Given the description of an element on the screen output the (x, y) to click on. 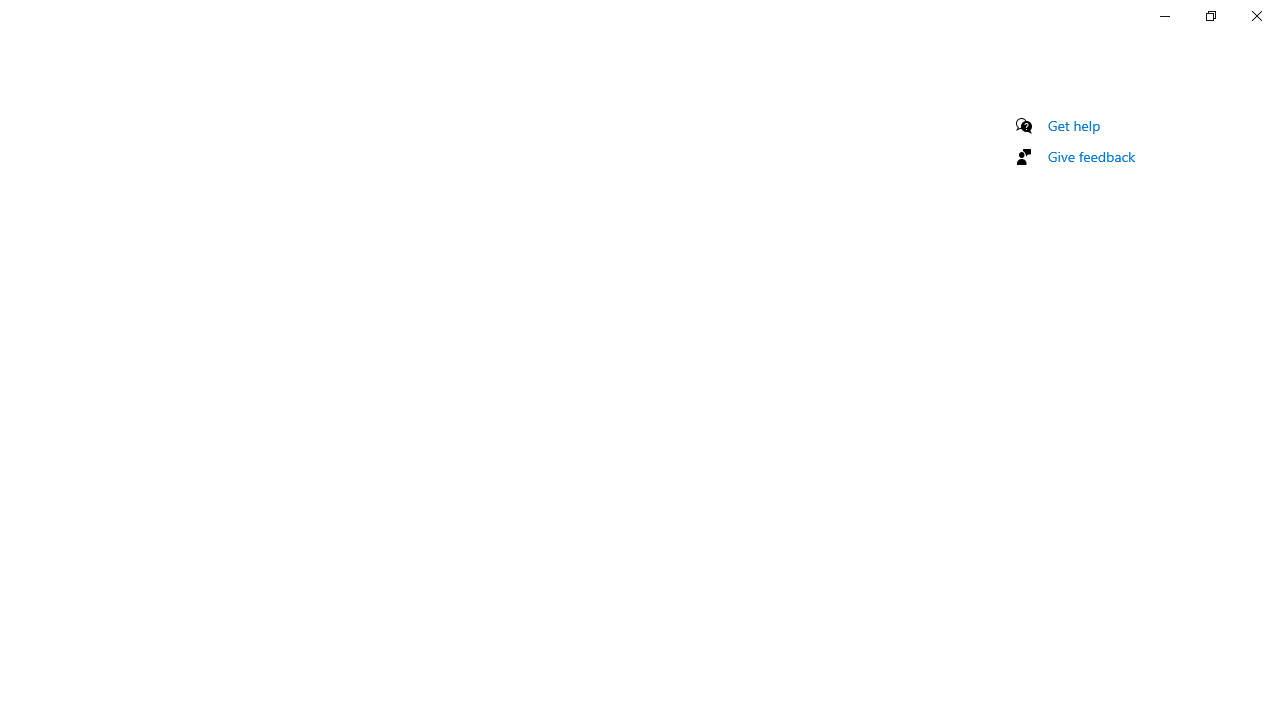
Give feedback (1091, 156)
